Given the description of an element on the screen output the (x, y) to click on. 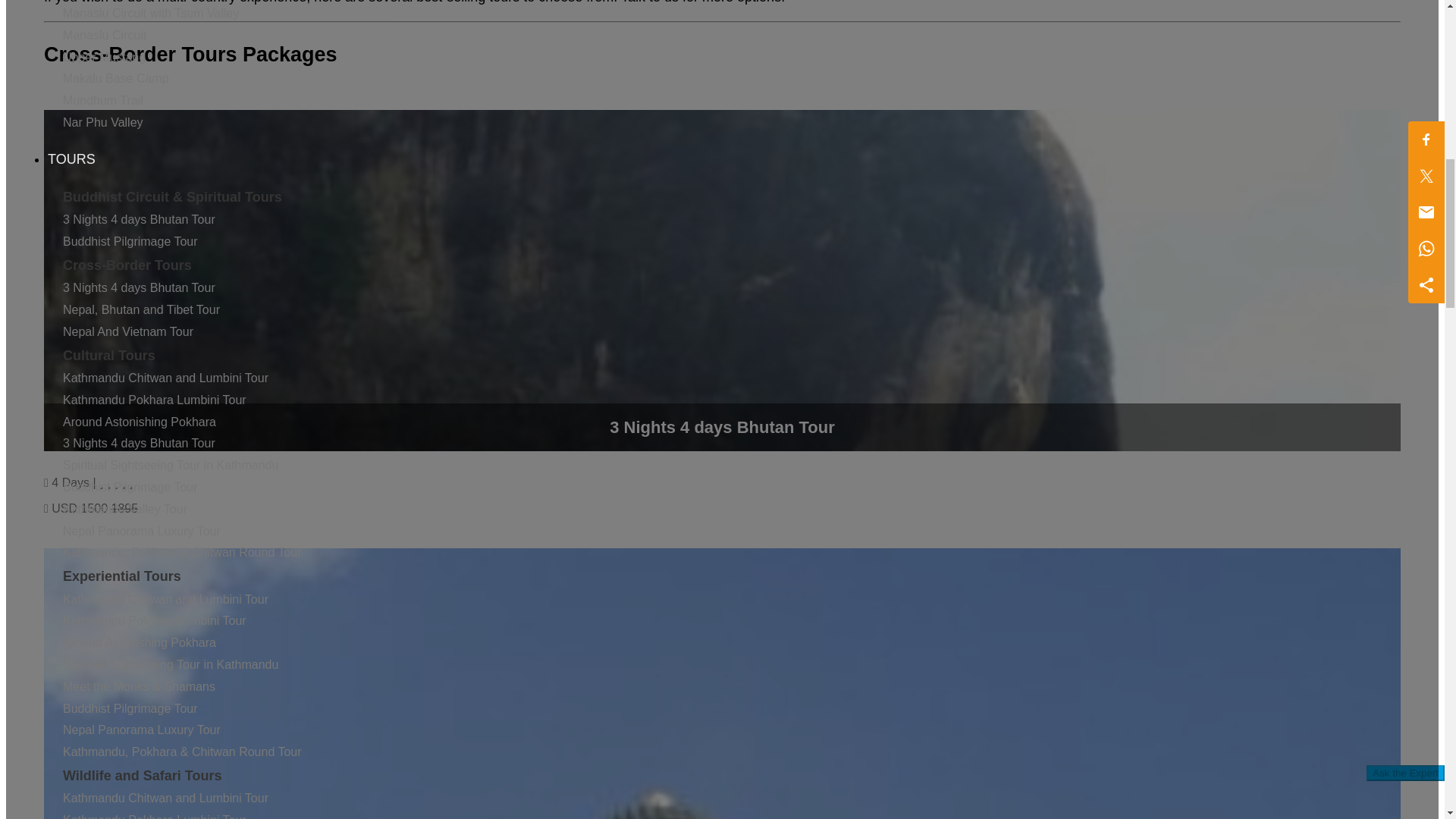
Manaslu Circuit with Tsum Valley (150, 12)
Upper Mustang (103, 56)
Manaslu Circuit (104, 34)
